Given the description of an element on the screen output the (x, y) to click on. 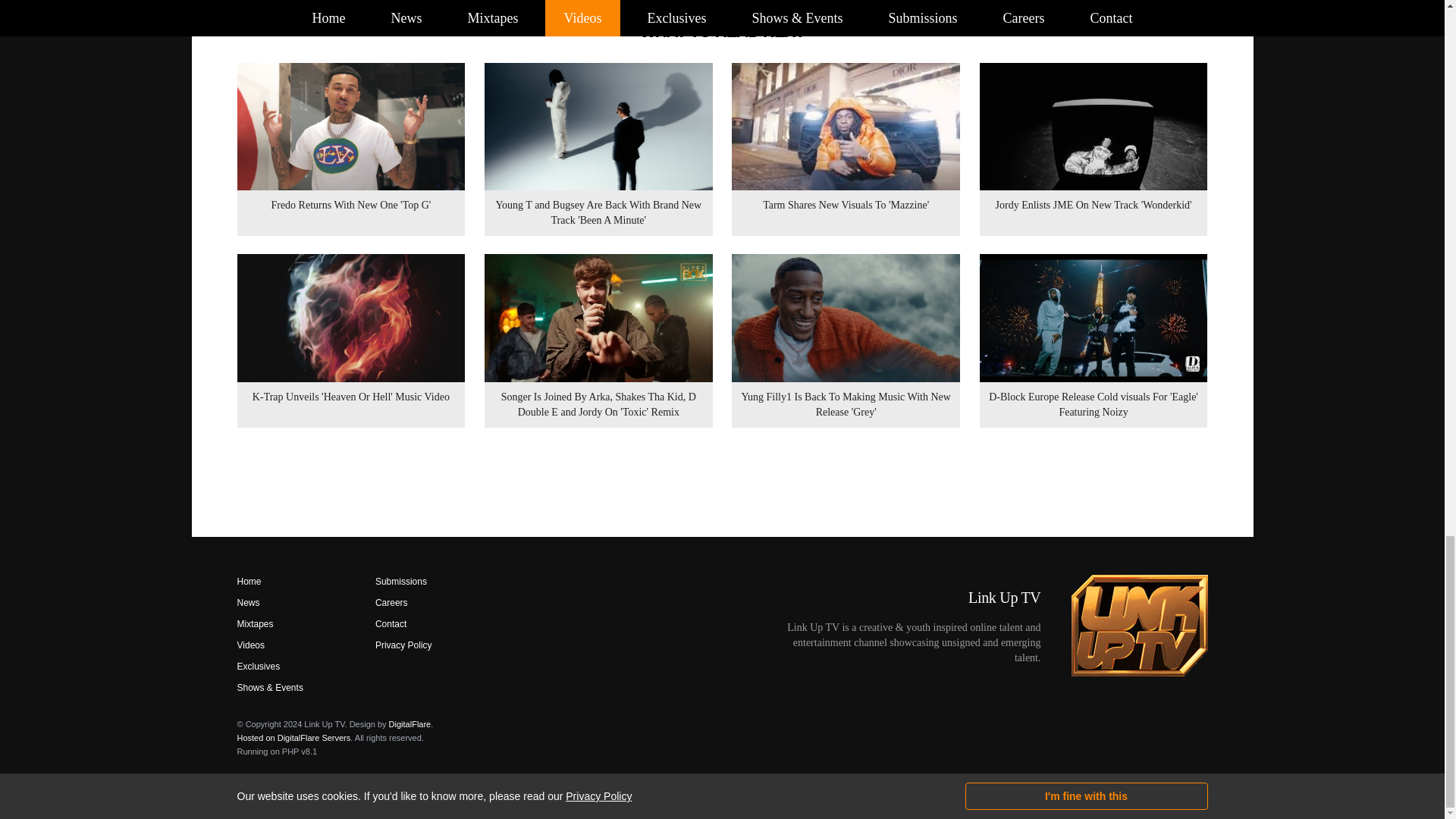
Fredo Returns With New One 'Top G' (349, 149)
Yung Filly1 Is Back To Making Music With New Release 'Grey' (845, 339)
K-Trap Unveils 'Heaven Or Hell' Music Video (349, 339)
Tarm Shares New Visuals To 'Mazzine' (845, 149)
Jordy Enlists JME On New Track 'Wonderkid' (1093, 149)
